Given the description of an element on the screen output the (x, y) to click on. 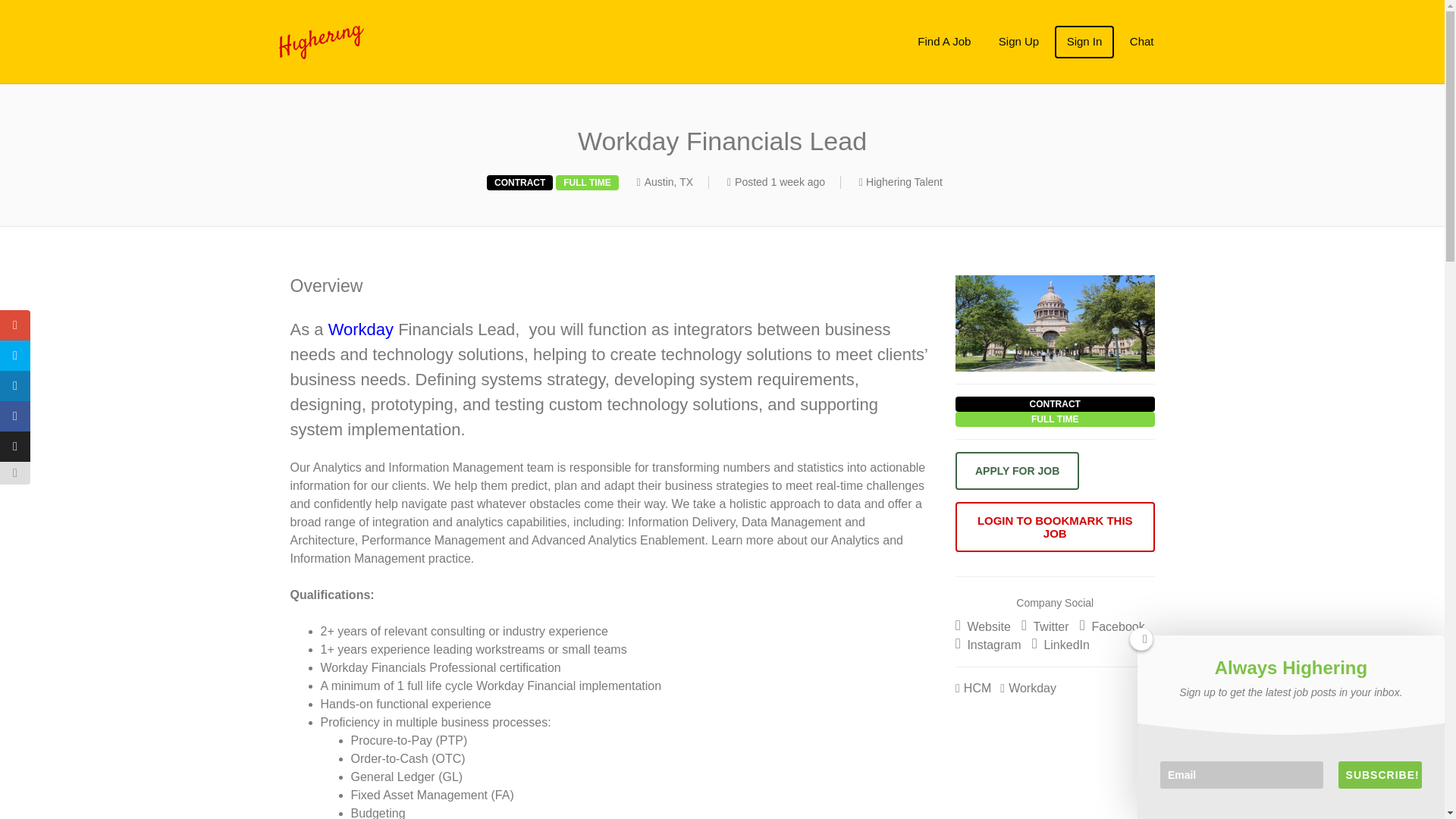
Sign Up (1019, 41)
Facebook (1112, 626)
Instagram (988, 644)
Highering Talent (413, 42)
Sign In (1084, 41)
LinkedIn (1060, 644)
HCM (973, 687)
Sign In (1084, 41)
Apply for job (1016, 470)
Sign Up (1019, 41)
LOGIN TO BOOKMARK THIS JOB (1054, 527)
Twitter (1045, 626)
Find A Job (943, 41)
Chat (1142, 41)
Chat (1142, 41)
